Given the description of an element on the screen output the (x, y) to click on. 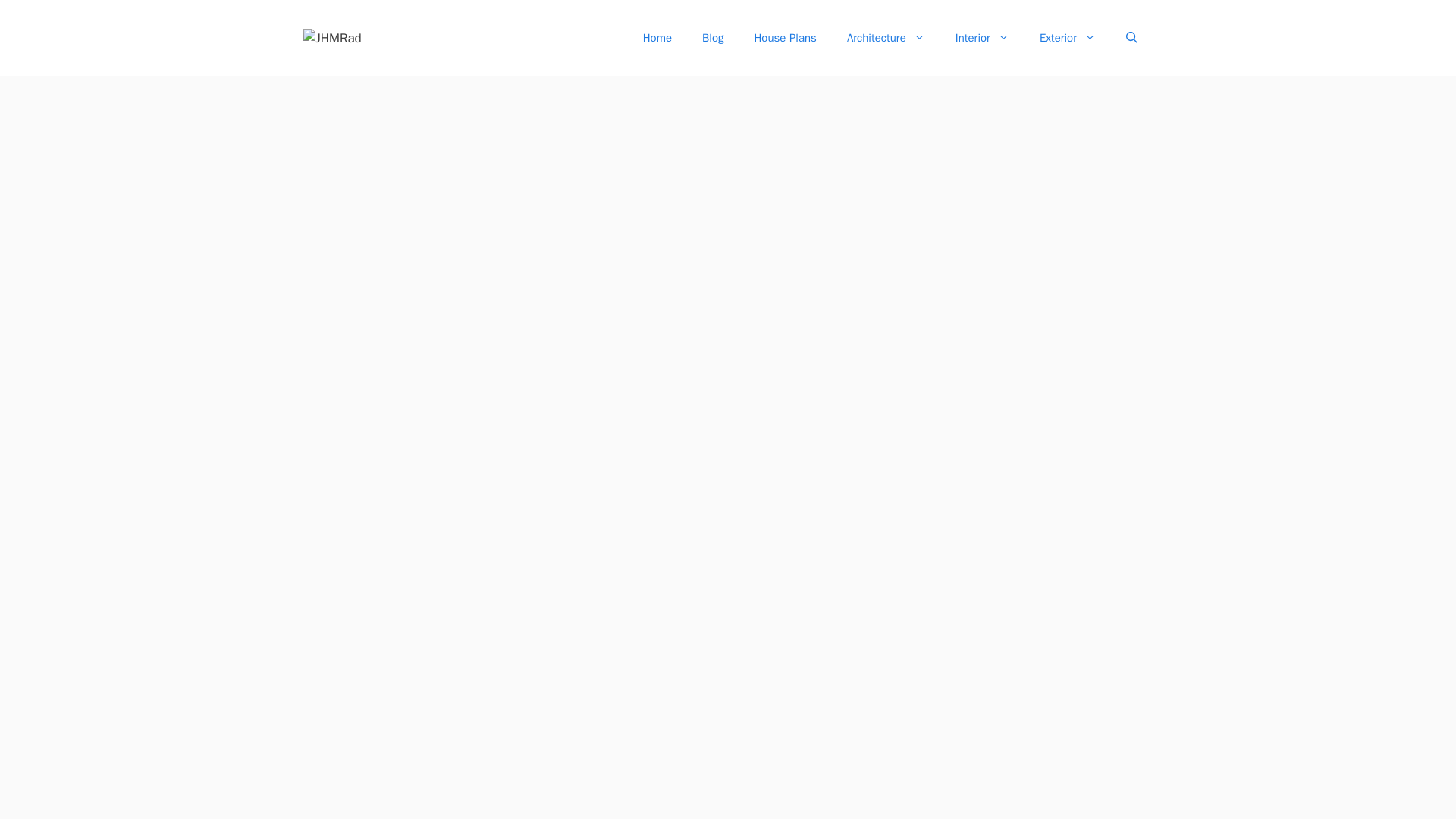
House Plans (784, 37)
Architecture (885, 37)
Home (657, 37)
Interior (982, 37)
Exterior (1067, 37)
Blog (712, 37)
